Given the description of an element on the screen output the (x, y) to click on. 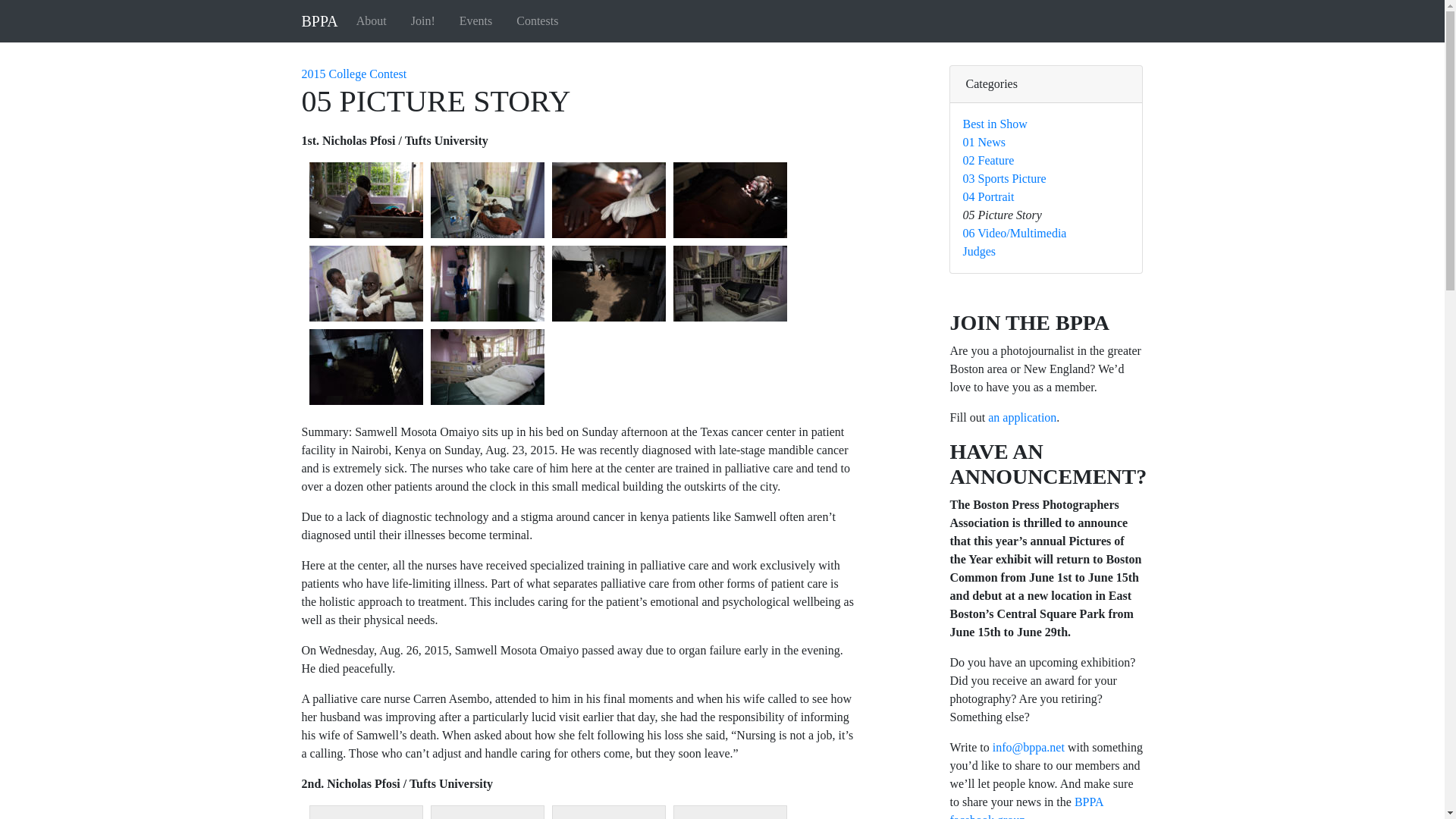
Contests (537, 20)
2015 College Contest (354, 73)
Events (475, 20)
About (371, 20)
BPPA (319, 20)
BPPA (319, 20)
About (371, 20)
Join! (422, 20)
Events (475, 20)
